Given the description of an element on the screen output the (x, y) to click on. 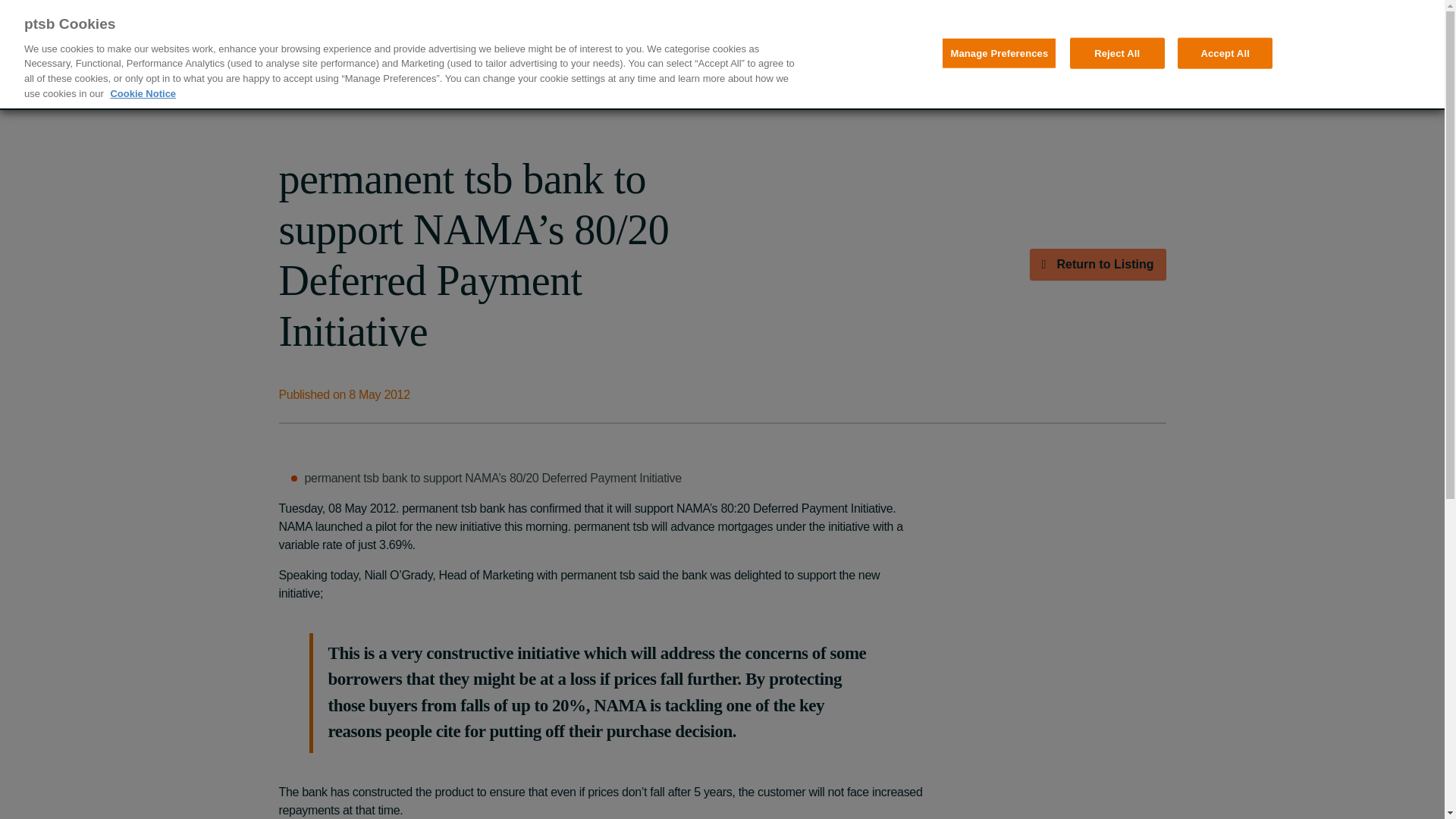
Open24 Login (909, 37)
